Given the description of an element on the screen output the (x, y) to click on. 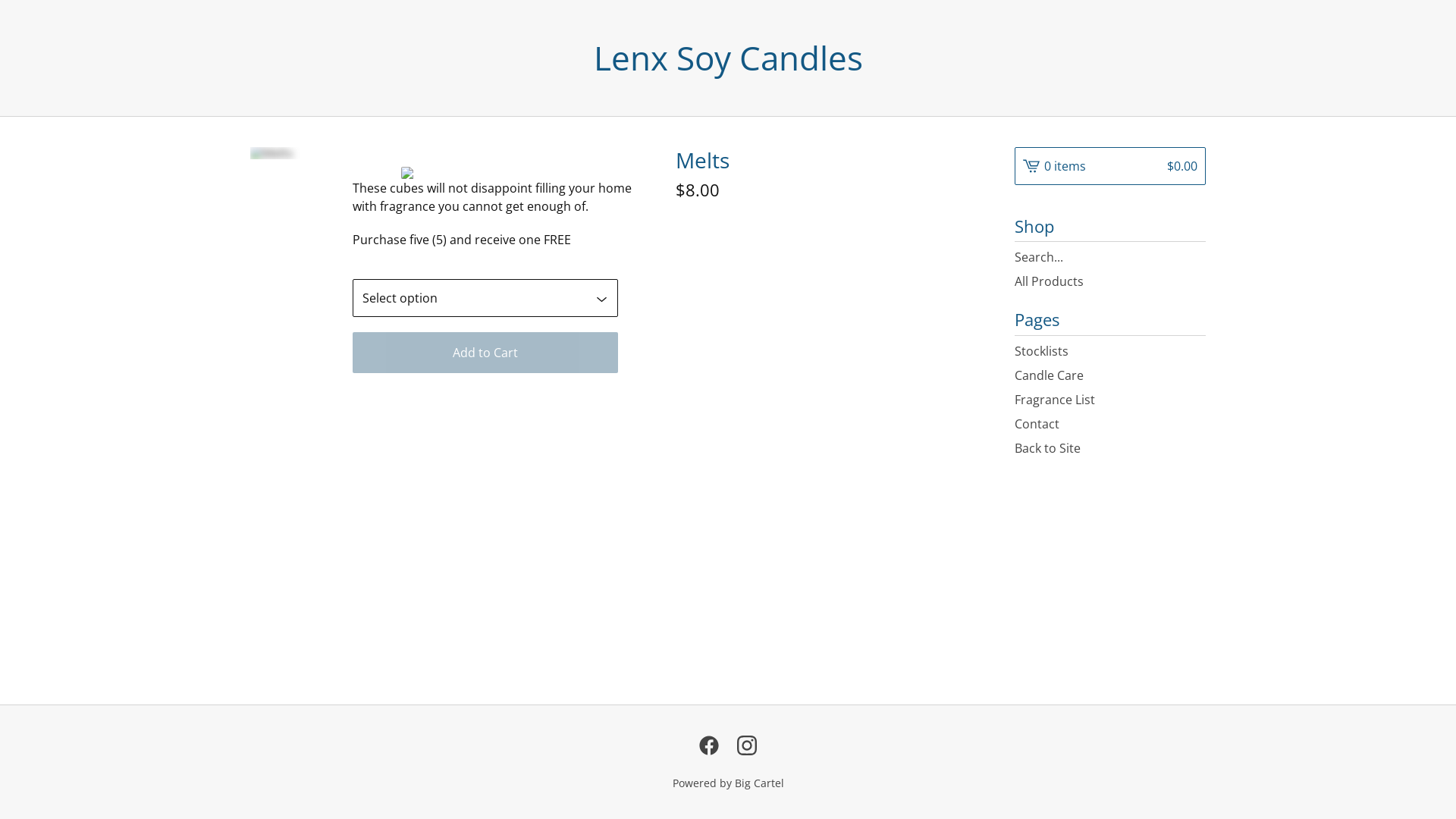
Back to Site Element type: text (1109, 448)
Candle Care Element type: text (1109, 375)
Lenx Soy Candles Element type: text (727, 57)
Stocklists Element type: text (1109, 350)
Fragrance List Element type: text (1109, 399)
All Products Element type: text (1109, 281)
Instagram Element type: hover (746, 745)
Add to Cart Element type: text (485, 352)
Powered by Big Cartel Element type: text (727, 782)
Facebook Element type: hover (708, 745)
0 items
$0.00 Element type: text (1109, 166)
Contact Element type: text (1109, 423)
